Given the description of an element on the screen output the (x, y) to click on. 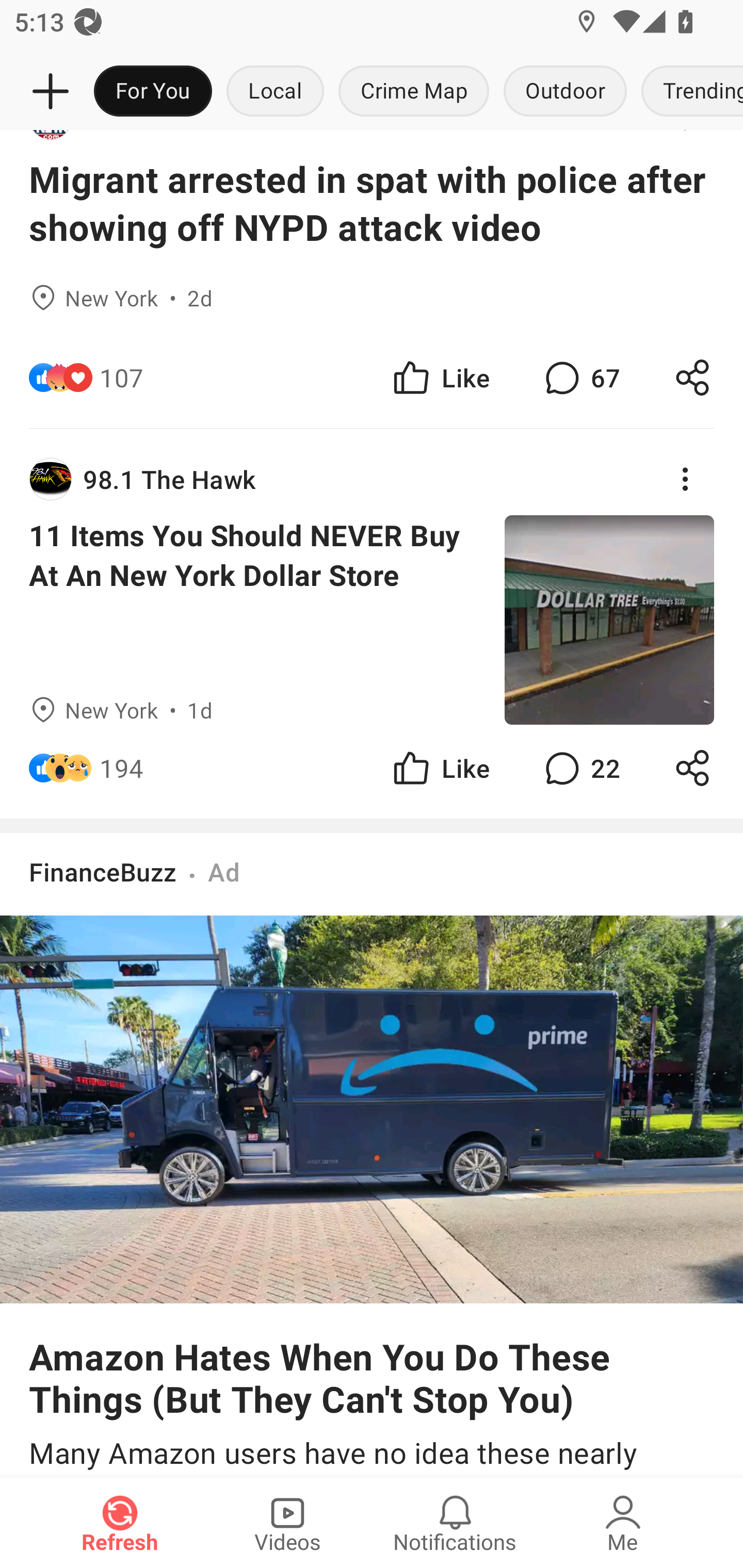
For You (152, 91)
Local (275, 91)
Crime Map (413, 91)
Outdoor (564, 91)
Trending (688, 91)
107 (121, 376)
Like (439, 376)
67 (579, 376)
194 (121, 767)
Like (439, 767)
22 (579, 767)
FinanceBuzz (102, 871)
Videos (287, 1522)
Notifications (455, 1522)
Me (622, 1522)
